Given the description of an element on the screen output the (x, y) to click on. 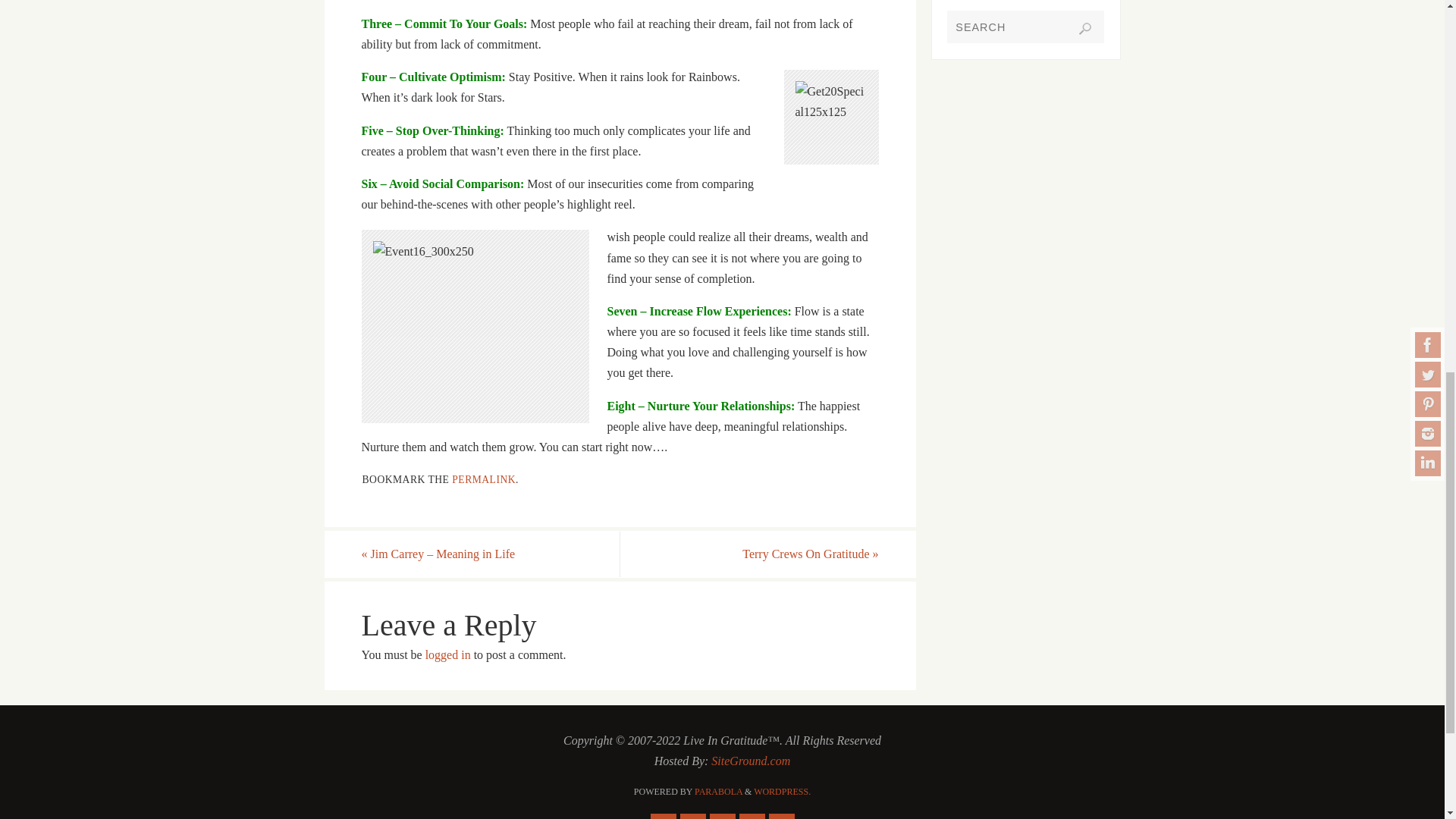
Pinterest (722, 816)
Semantic Personal Publishing Platform (782, 791)
Facebook (663, 816)
Permalink to Eight Things Happy People Do Differently (483, 479)
Twitter (691, 816)
Parabola Theme by Cryout Creations (718, 791)
